Given the description of an element on the screen output the (x, y) to click on. 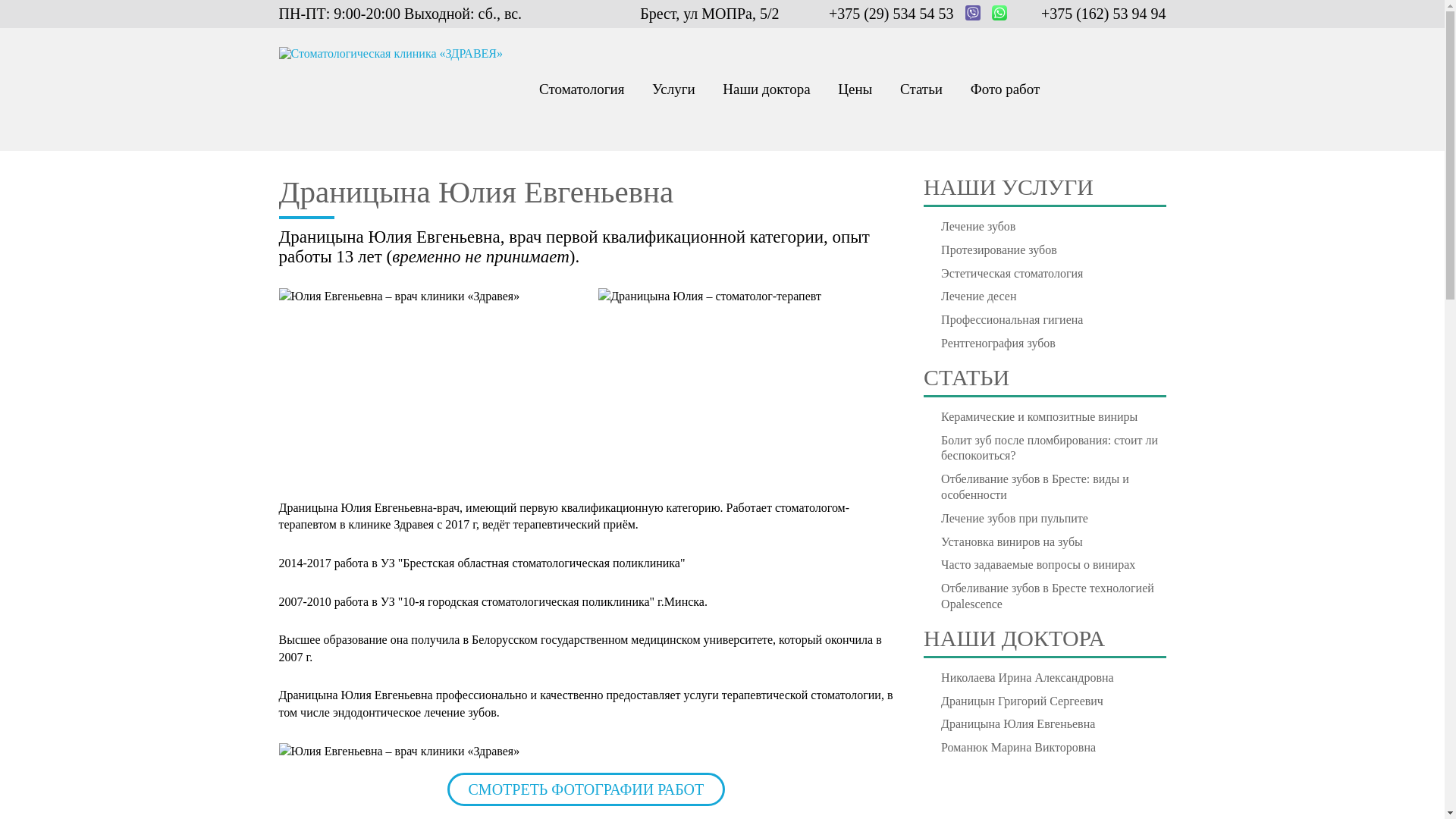
+375 (162) 53 94 94 Element type: text (1103, 13)
+375 (29) 534 54 53 Element type: text (890, 13)
